Given the description of an element on the screen output the (x, y) to click on. 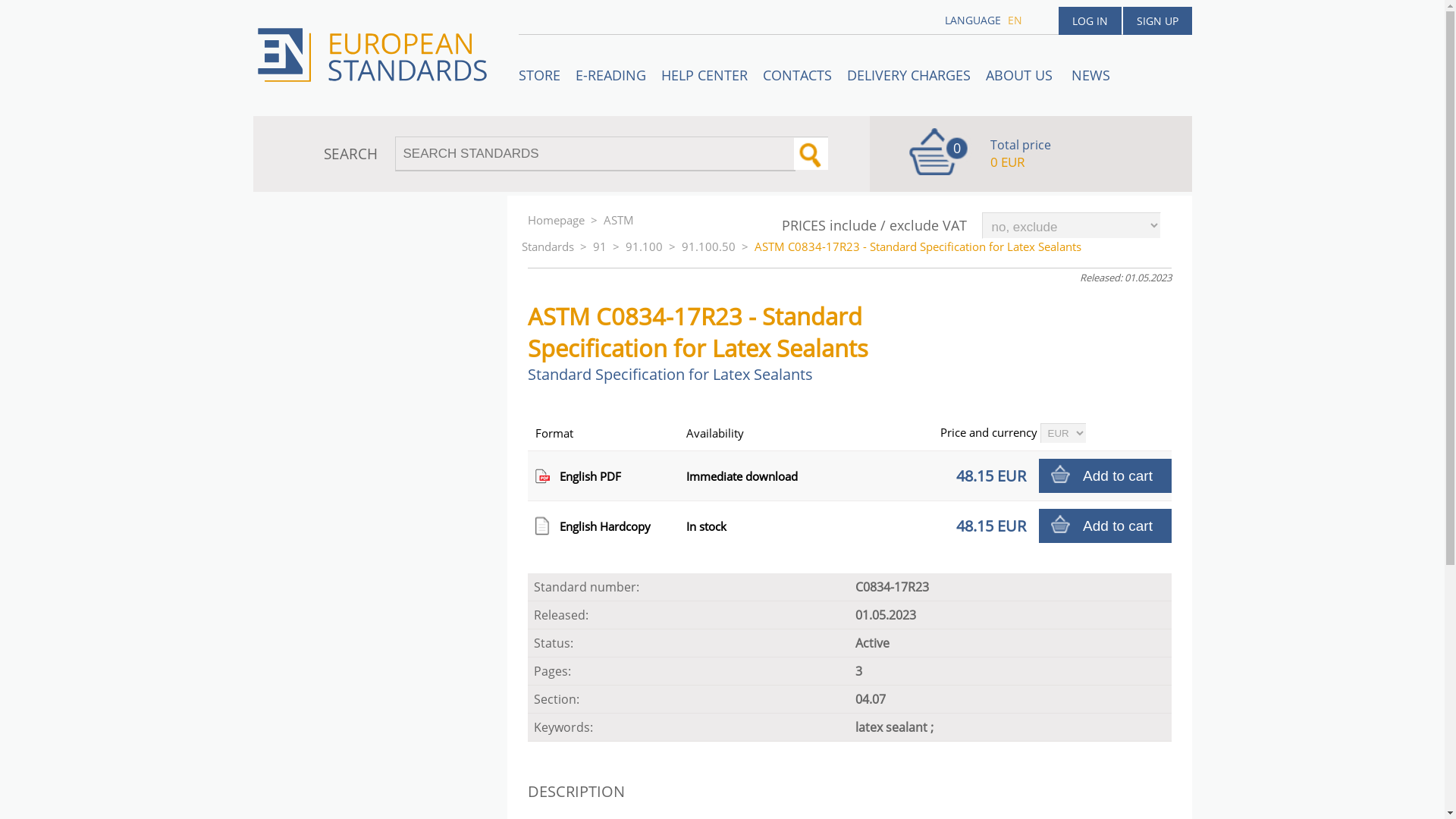
CONTACTS (797, 75)
Contacts (797, 75)
STORE (539, 75)
Homepage (556, 219)
ABOUT US (1021, 75)
Help center (704, 75)
HELP CENTER (704, 75)
Add to cart (1105, 525)
Delivery charges (907, 75)
ASTM Standards (577, 232)
